Given the description of an element on the screen output the (x, y) to click on. 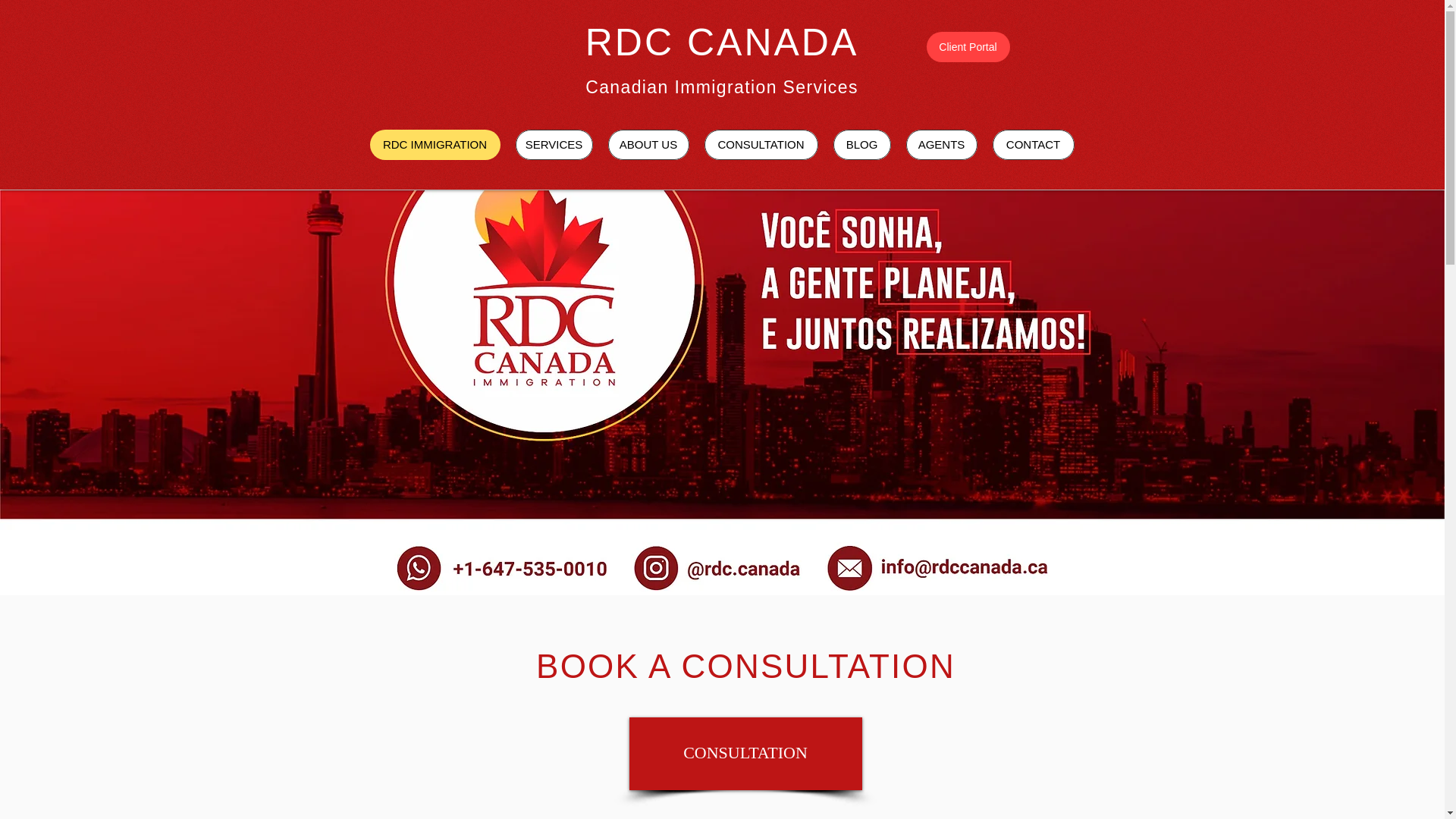
AGENTS (940, 144)
CONSULTATION (744, 753)
ABOUT US (648, 144)
Client Portal (968, 46)
BLOG (860, 144)
RDC IMMIGRATION (434, 144)
RDC CANADA (722, 42)
CONTACT (1032, 144)
SERVICES (553, 144)
CONSULTATION (759, 144)
